Given the description of an element on the screen output the (x, y) to click on. 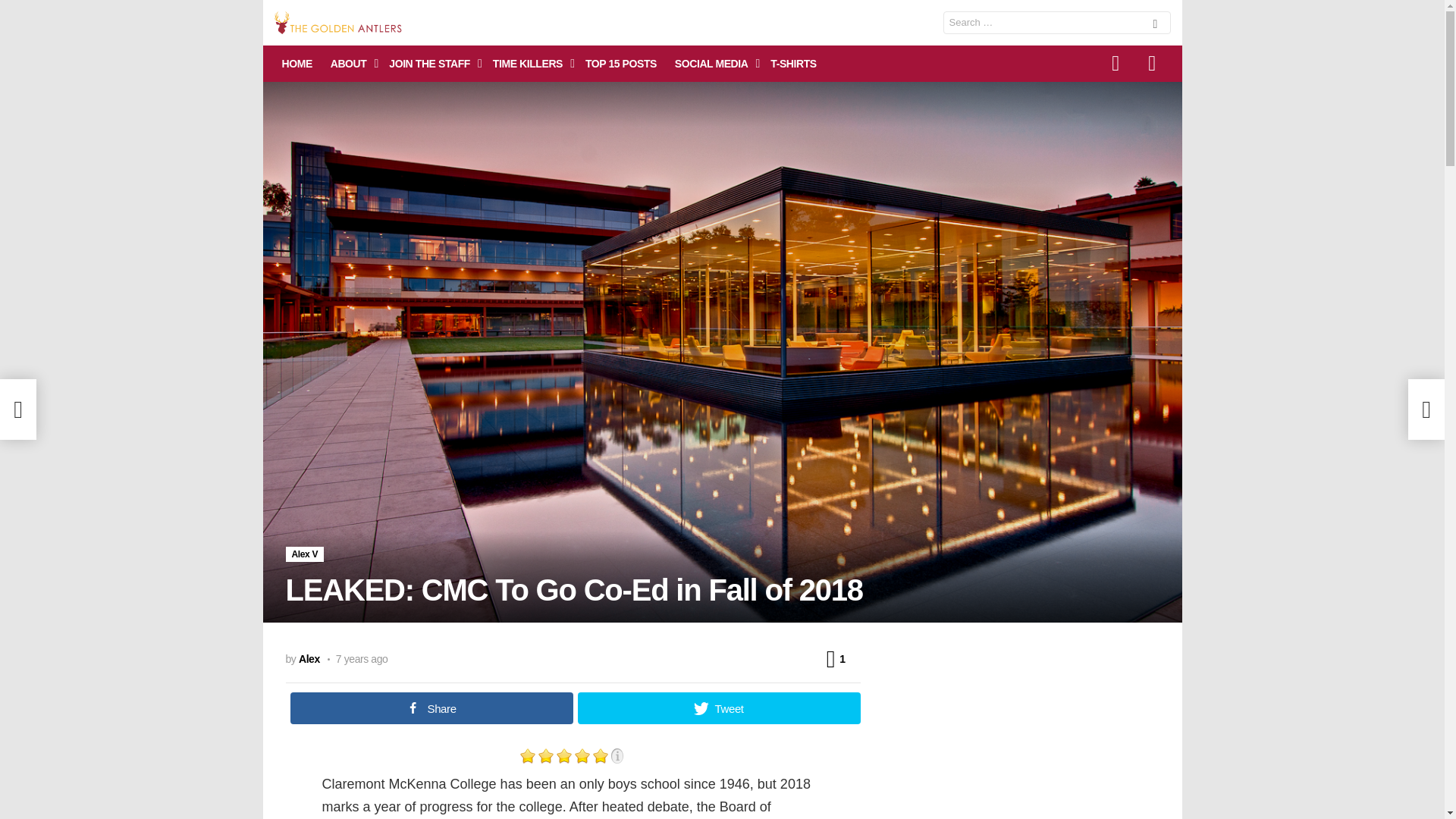
T-SHIRTS (793, 63)
January 22, 2018, 12:08 pm (357, 658)
Alex (309, 657)
Search for: (1056, 22)
HOME (297, 63)
SOCIAL MEDIA (713, 63)
Facebook (1115, 63)
TOP 15 POSTS (620, 63)
Share (430, 707)
Tweet (719, 707)
